Given the description of an element on the screen output the (x, y) to click on. 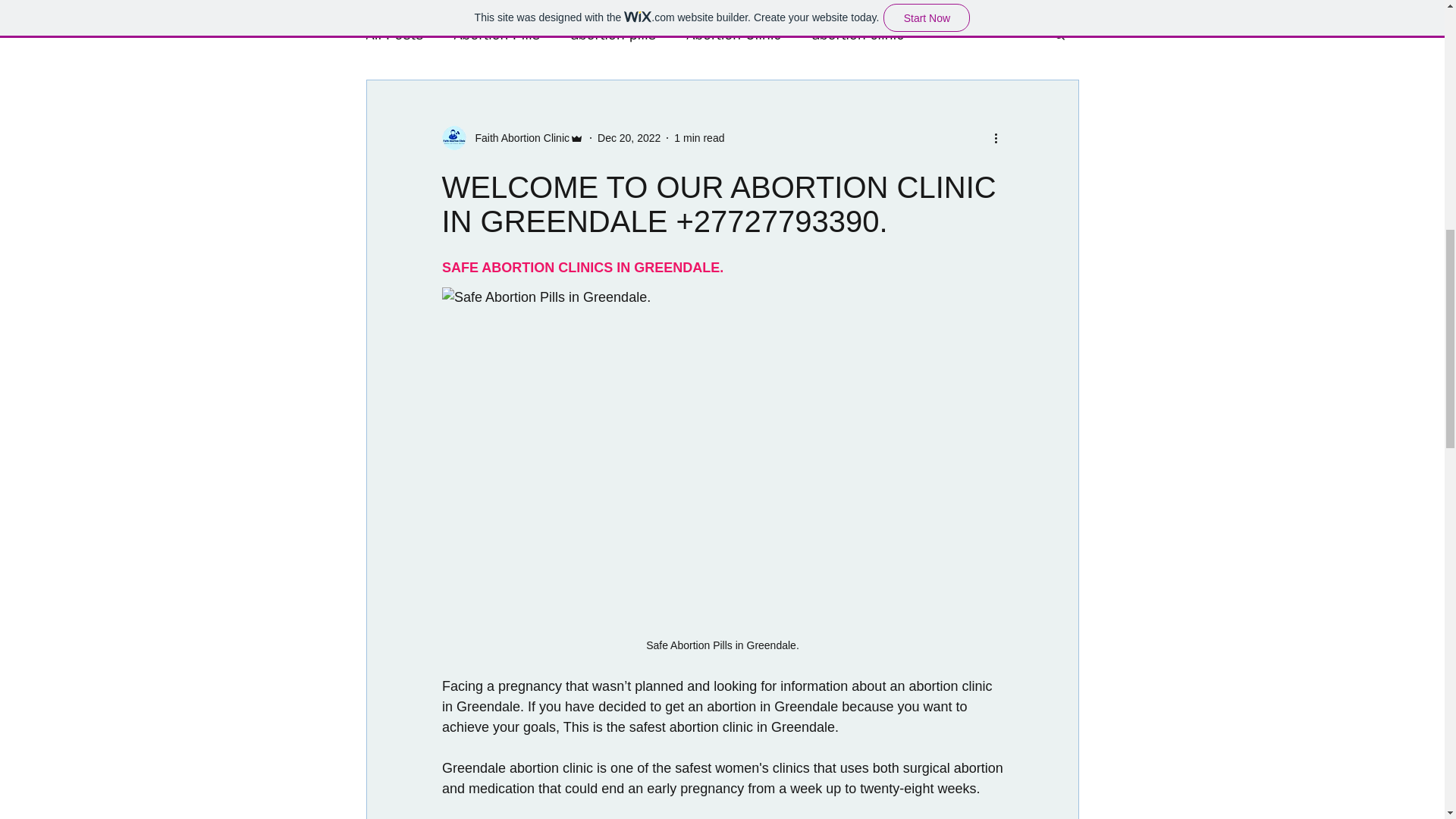
Dec 20, 2022 (628, 137)
1 min read (698, 137)
Faith Abortion Clinic (517, 138)
